Given the description of an element on the screen output the (x, y) to click on. 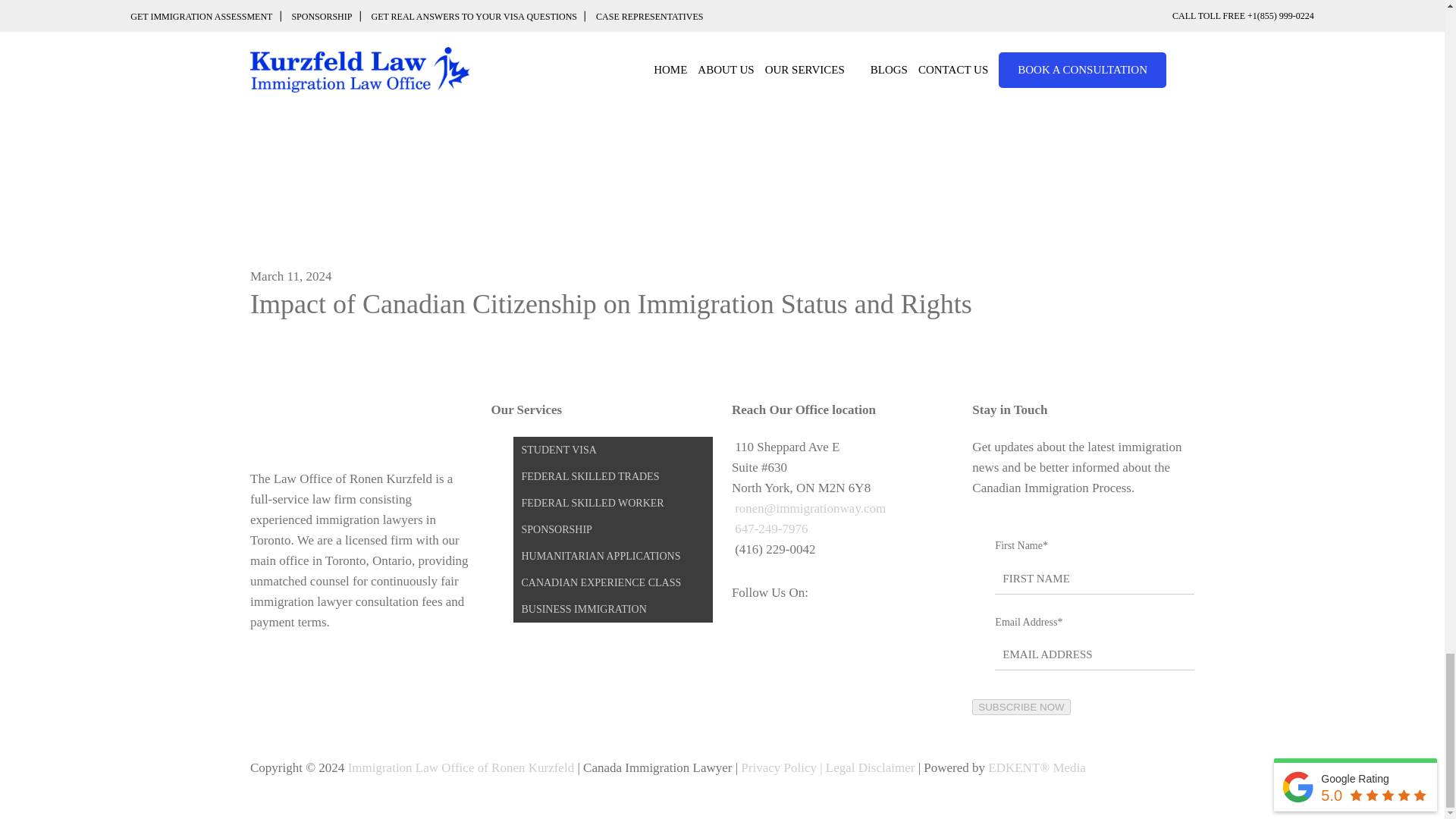
Subscribe Now (1021, 706)
